Given the description of an element on the screen output the (x, y) to click on. 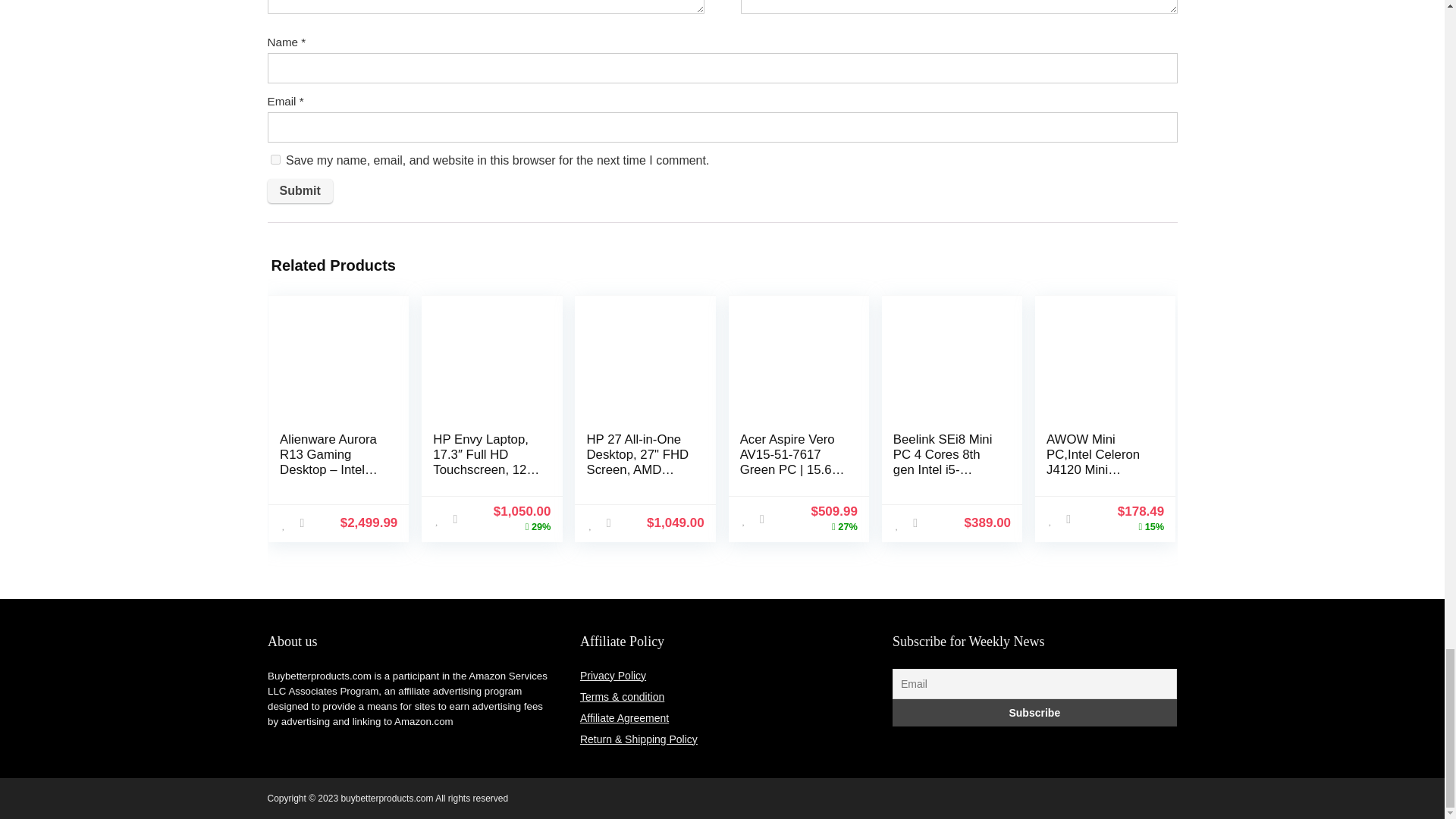
Subscribe (1034, 712)
Submit (298, 191)
yes (274, 159)
